Given the description of an element on the screen output the (x, y) to click on. 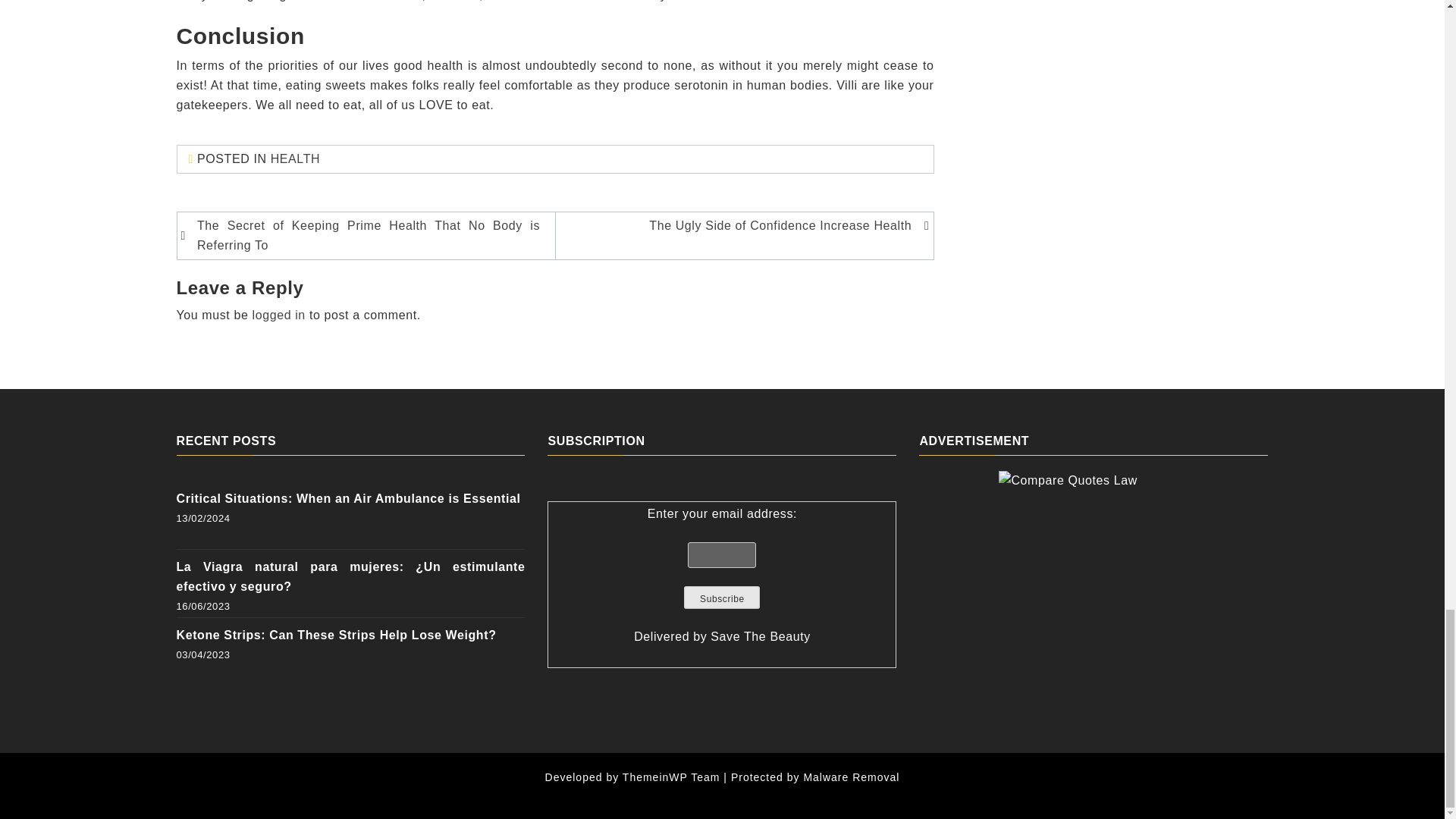
Compare Quotes Law (1093, 565)
The Ugly Side of Confidence Increase Health (741, 225)
HEALTH (295, 158)
logged in (278, 314)
Subscribe (722, 597)
